Given the description of an element on the screen output the (x, y) to click on. 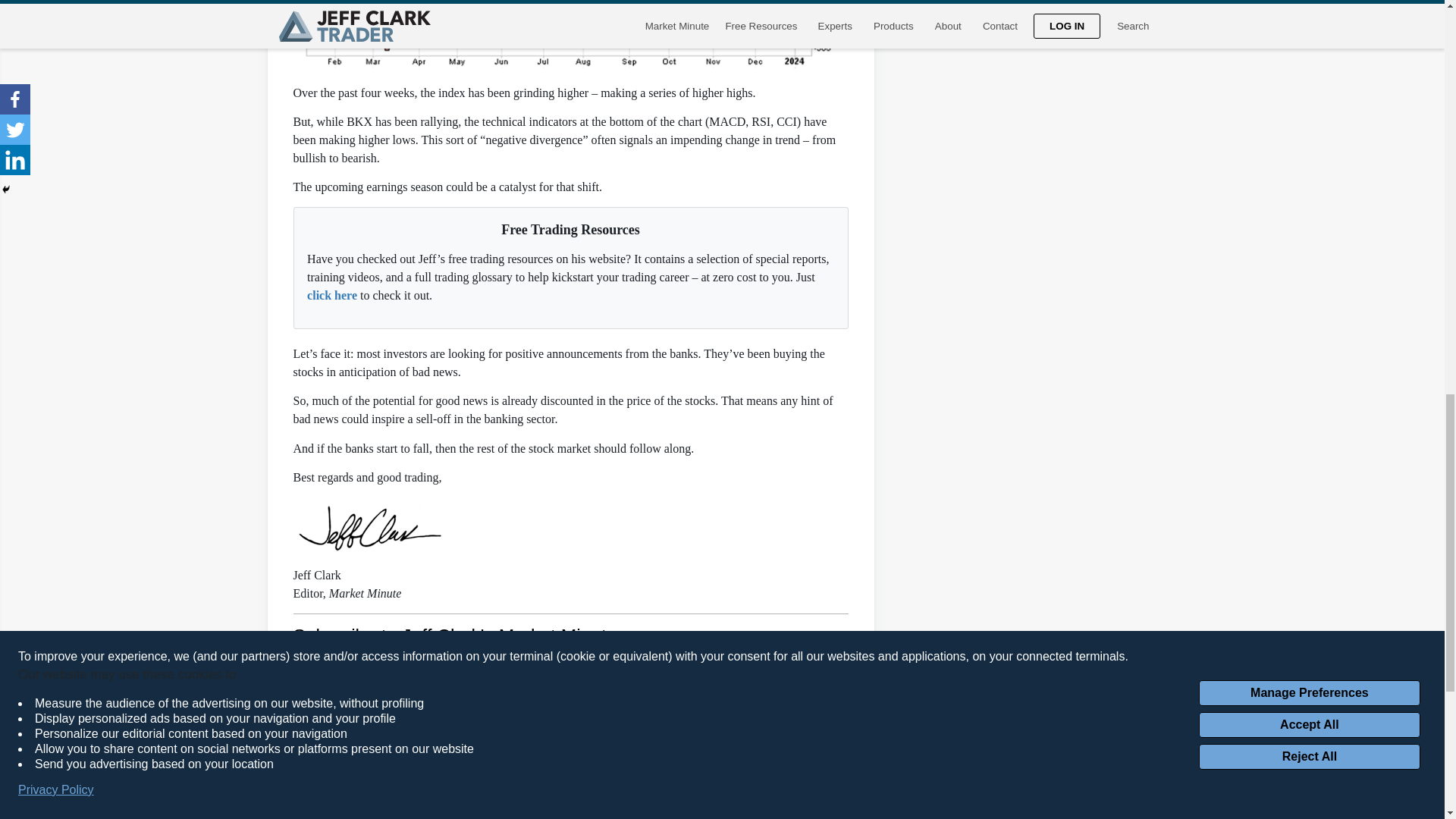
Subscribe (609, 699)
click here (331, 295)
